Given the description of an element on the screen output the (x, y) to click on. 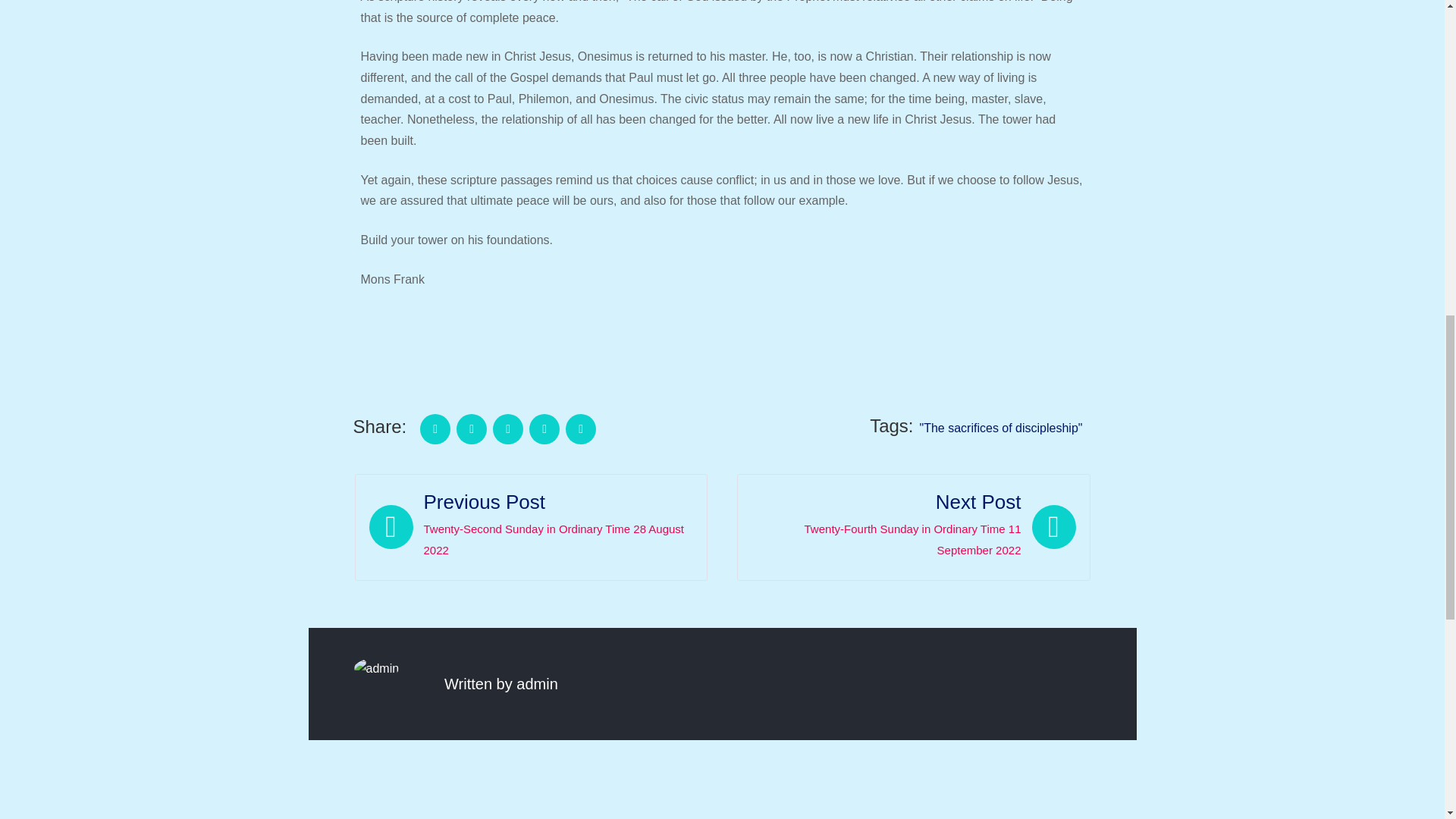
Share on Pinterest (580, 429)
Share on Twitter (471, 429)
Share on LinkedIn (544, 429)
Share on Facebook (434, 429)
Posts by admin (536, 683)
